Given the description of an element on the screen output the (x, y) to click on. 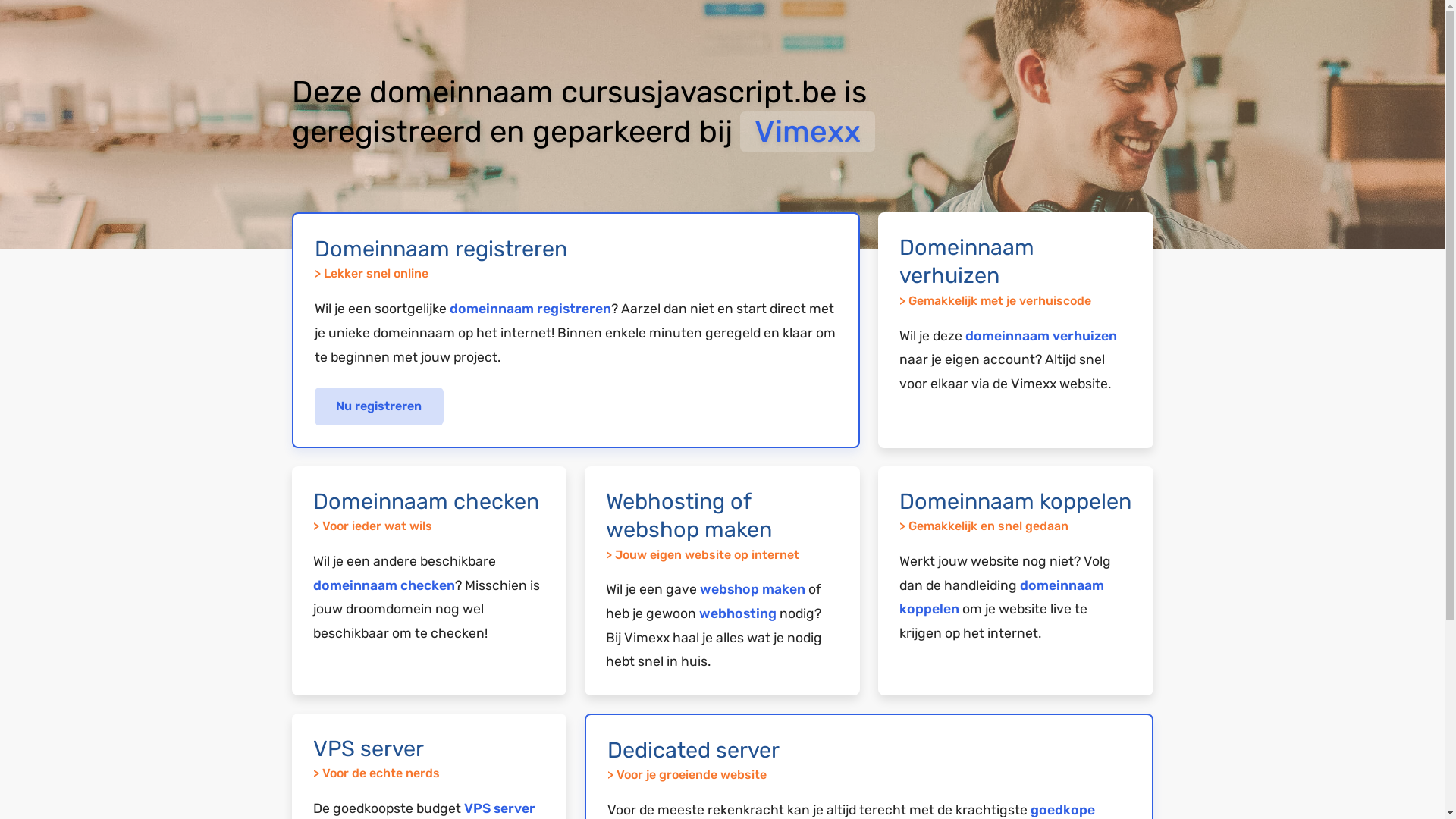
VPS server Element type: text (499, 807)
webshop maken Element type: text (752, 588)
domeinnaam registreren Element type: text (529, 308)
webhosting Element type: text (737, 613)
domeinnaam verhuizen Element type: text (1041, 335)
domeinnaam koppelen Element type: text (1001, 597)
Nu registreren Element type: text (378, 406)
Vimexx Element type: text (807, 131)
domeinnaam checken Element type: text (383, 585)
